Given the description of an element on the screen output the (x, y) to click on. 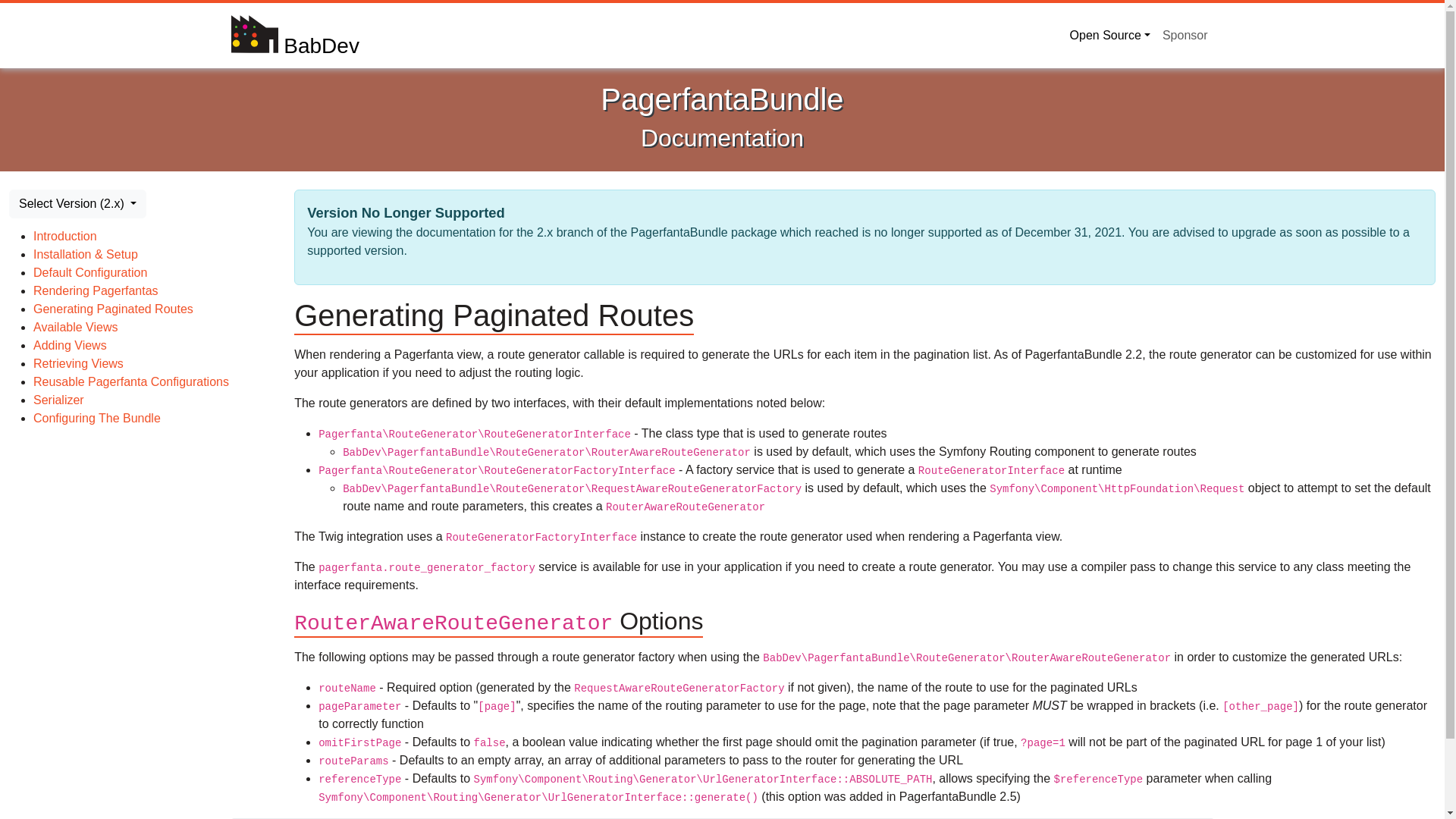
Available Views (75, 327)
Rendering Pagerfantas (95, 290)
Reusable Pagerfanta Configurations (130, 381)
Adding Views (69, 345)
Generating Paginated Routes (113, 308)
Retrieving Views (78, 363)
Sponsor (1185, 35)
Serializer (58, 399)
BabDev (294, 35)
Introduction (65, 236)
Configuring The Bundle (96, 418)
Default Configuration (90, 272)
Open Source (1110, 35)
